Given the description of an element on the screen output the (x, y) to click on. 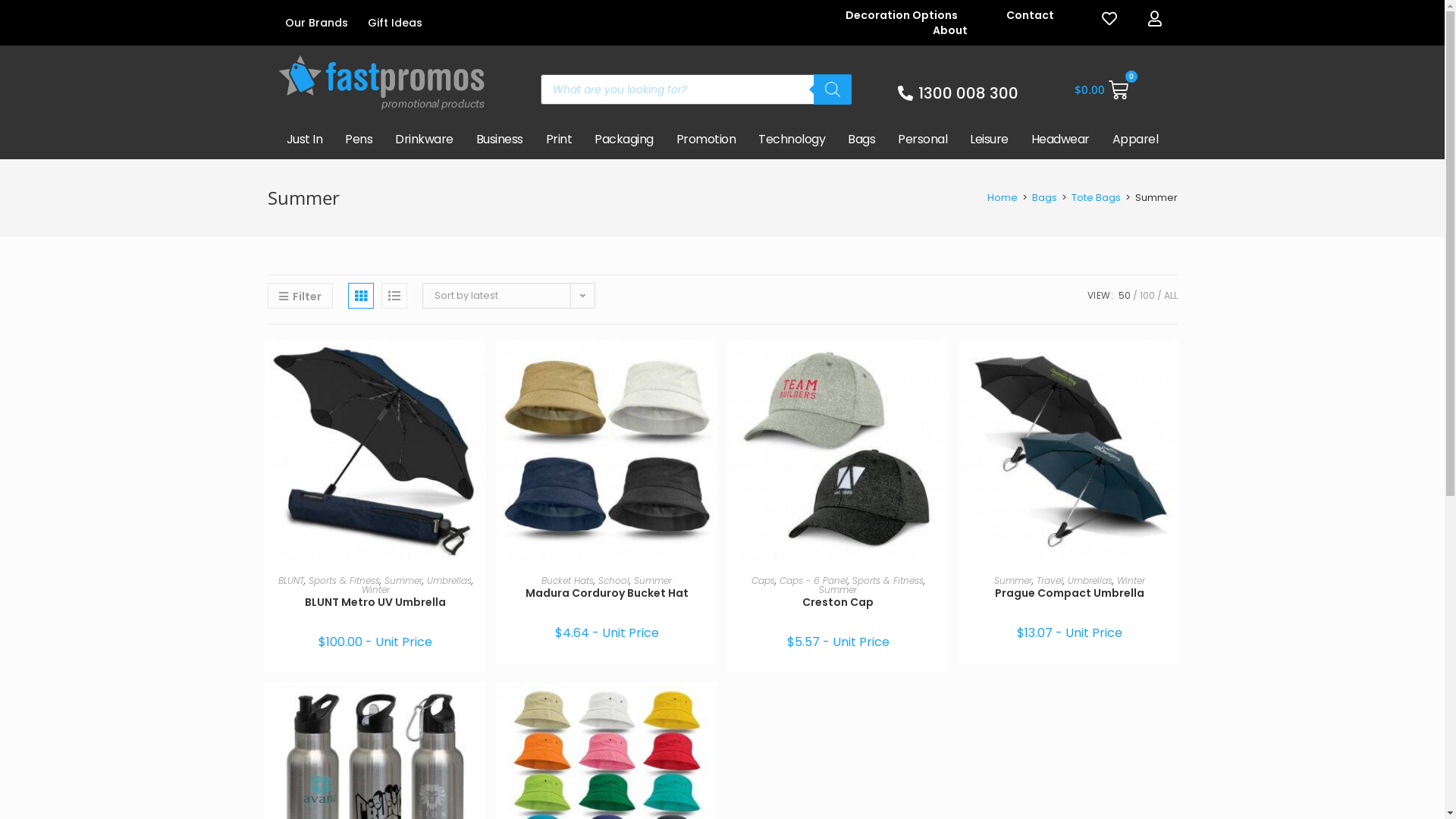
Headwear Element type: text (1060, 139)
Business Element type: text (499, 139)
Umbrellas Element type: text (1089, 580)
Summer Element type: text (837, 589)
Our Brands Element type: text (315, 22)
Grid view Element type: hover (360, 295)
Pens Element type: text (358, 139)
Sports & Fitness Element type: text (887, 580)
Winter Element type: text (374, 589)
About Element type: text (949, 29)
Packaging Element type: text (624, 139)
Home Element type: text (1002, 197)
Contact Element type: text (1030, 14)
Technology Element type: text (791, 139)
Winter Element type: text (1130, 580)
Caps Element type: text (762, 580)
Umbrellas Element type: text (448, 580)
Creston Cap Element type: text (837, 602)
Summer Element type: text (402, 580)
Bags Element type: text (1043, 197)
Summer Element type: text (1012, 580)
Filter Element type: text (299, 295)
Apparel Element type: text (1135, 139)
Prague Compact Umbrella Element type: text (1069, 593)
Summer Element type: text (652, 580)
BLUNT Element type: text (290, 580)
Gift Ideas Element type: text (394, 22)
50 Element type: text (1123, 294)
Sports & Fitness Element type: text (343, 580)
Bucket Hats Element type: text (567, 580)
Caps - 6 Panel Element type: text (813, 580)
BLUNT Metro UV Umbrella Element type: text (374, 602)
Just In Element type: text (303, 139)
Tote Bags Element type: text (1095, 197)
Travel Element type: text (1048, 580)
List view Element type: hover (393, 295)
Bags Element type: text (861, 139)
$0.00
0 Element type: text (1101, 89)
100 Element type: text (1146, 294)
Personal Element type: text (922, 139)
Drinkware Element type: text (423, 139)
Print Element type: text (558, 139)
Decoration Options Element type: text (901, 14)
Leisure Element type: text (988, 139)
ALL Element type: text (1169, 294)
1300 008 300 Element type: text (942, 92)
School Element type: text (613, 580)
Promotion Element type: text (706, 139)
Madura Corduroy Bucket Hat Element type: text (605, 593)
